Given the description of an element on the screen output the (x, y) to click on. 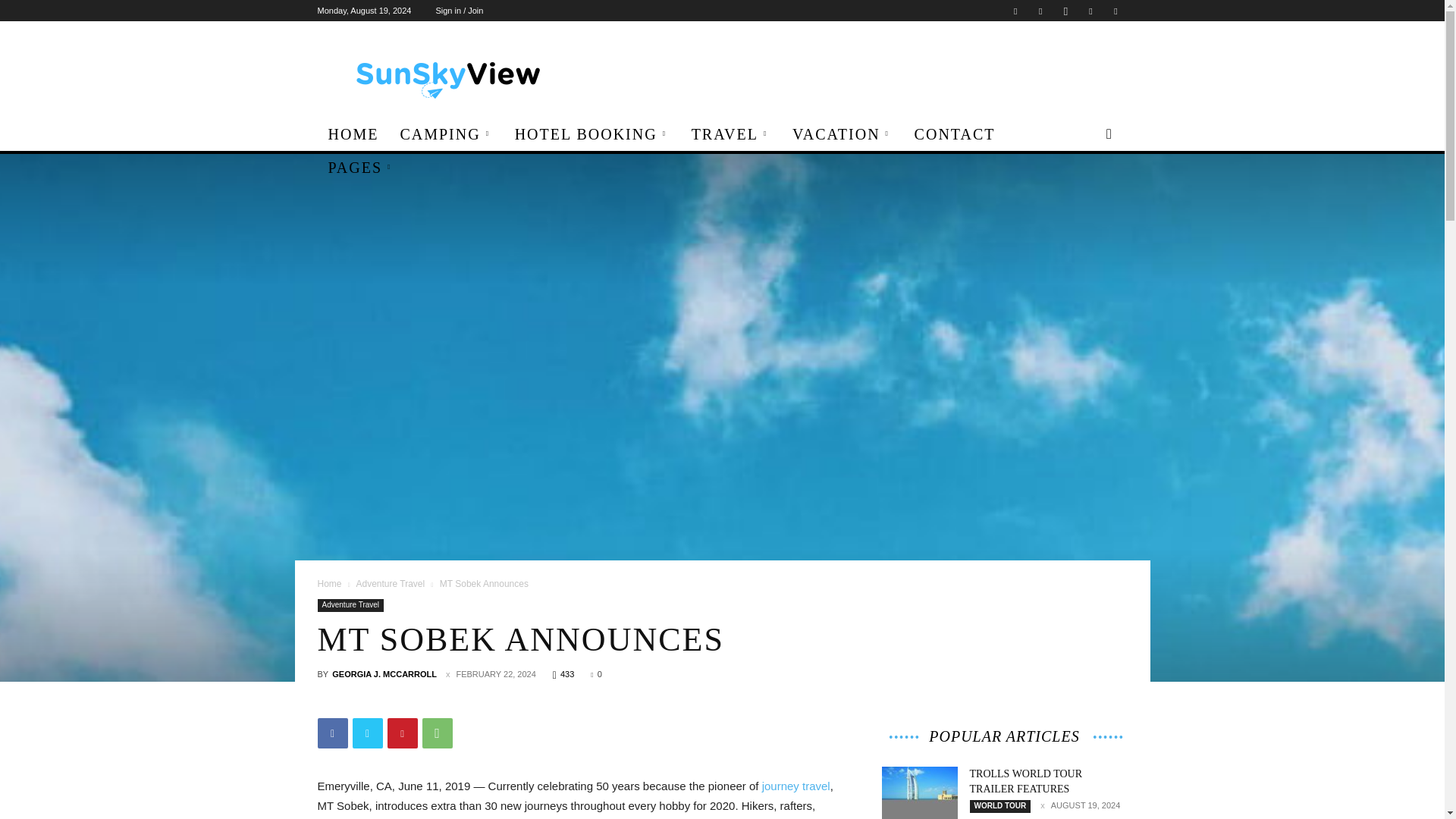
View all posts in Adventure Travel (390, 583)
Facebook (332, 733)
Pinterest (401, 733)
Twitter (366, 733)
Lastfm (1090, 10)
Grooveshark (1040, 10)
Instagram (1065, 10)
Facebook (1015, 10)
Soundcloud (1114, 10)
